Given the description of an element on the screen output the (x, y) to click on. 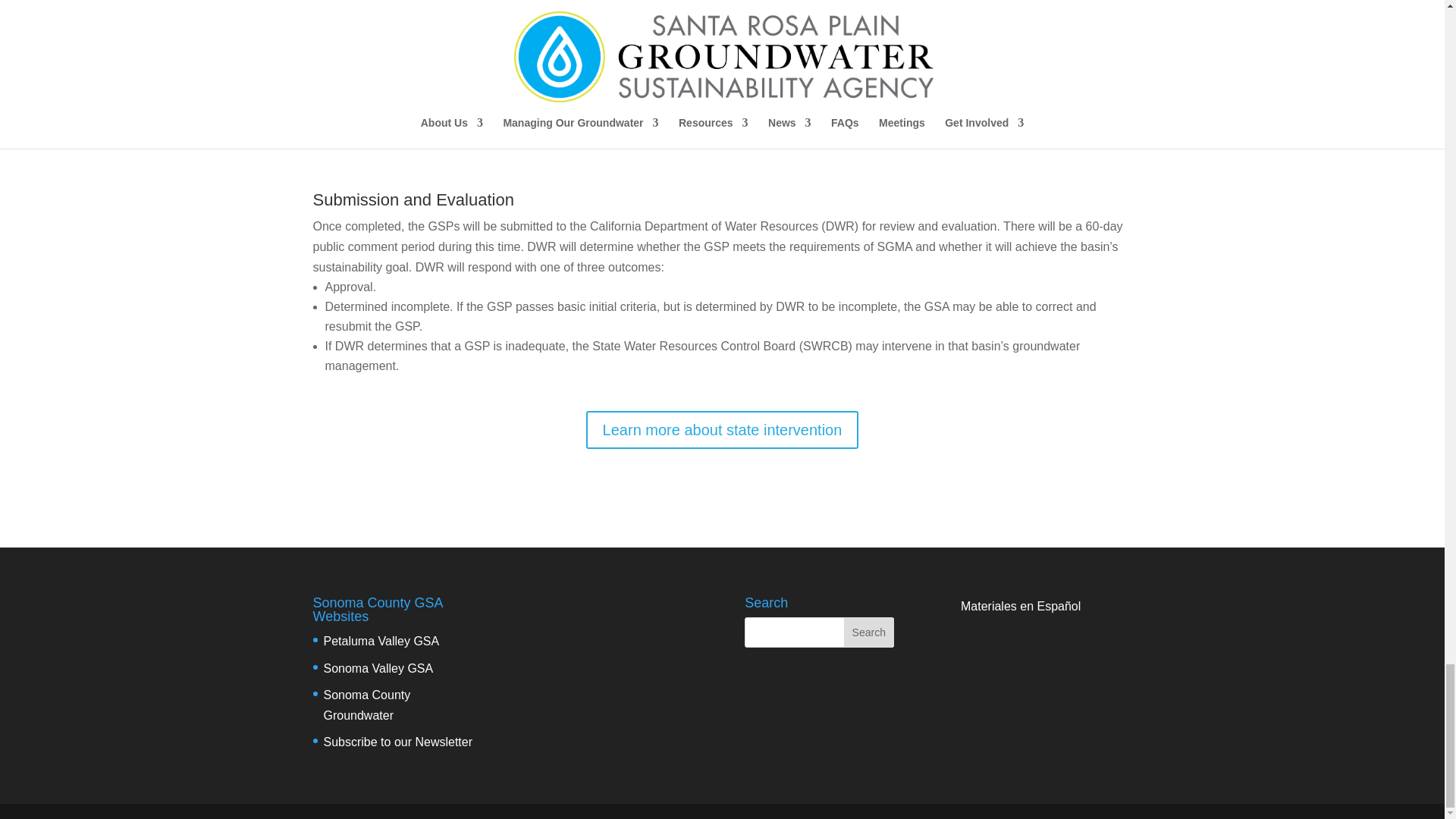
Search (868, 632)
